Given the description of an element on the screen output the (x, y) to click on. 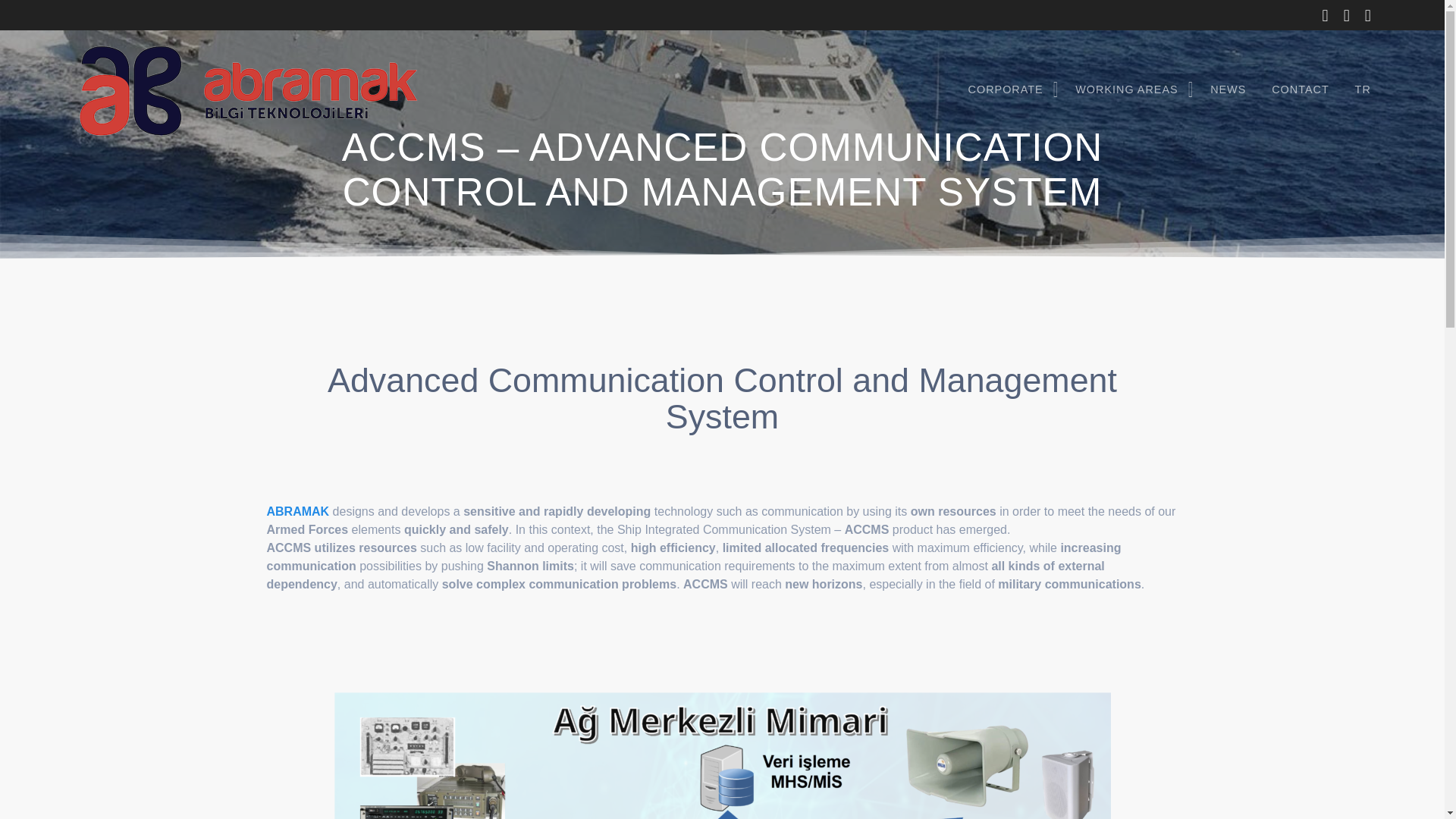
WORKING AREAS (1129, 90)
CONTACT (1300, 90)
NEWS (1227, 90)
ABRAMAK (298, 511)
CORPORATE (1008, 90)
TR (1362, 90)
